Given the description of an element on the screen output the (x, y) to click on. 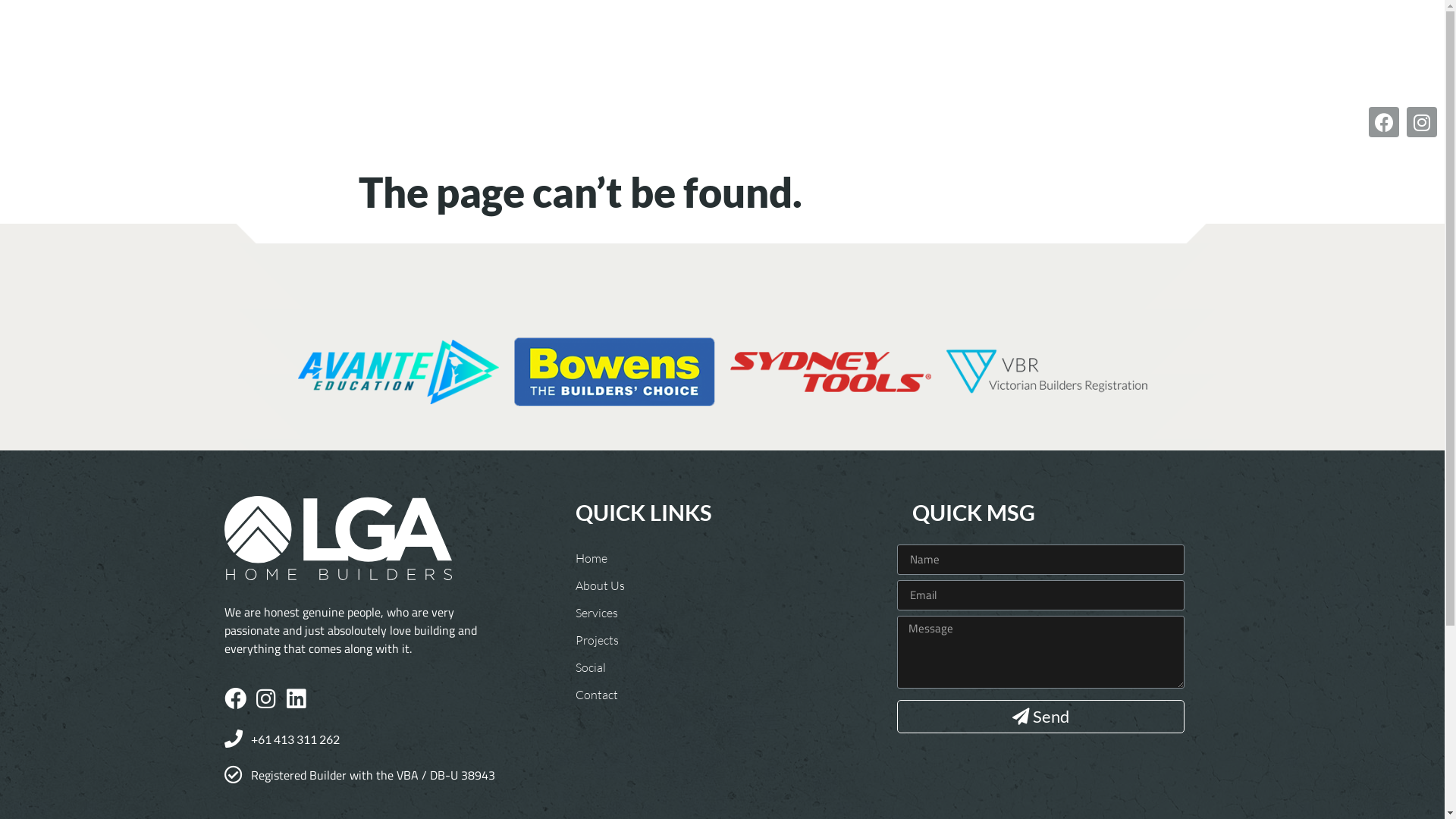
Home Element type: text (600, 557)
ABOUT US Element type: text (536, 51)
SOCIAL Element type: text (759, 51)
Social Element type: text (600, 666)
CONTACT Element type: text (828, 51)
Services Element type: text (600, 612)
Projects Element type: text (600, 639)
+61 413 311 262 Element type: text (366, 739)
Send Element type: text (1040, 716)
About Us Element type: text (600, 585)
SERVICES Element type: text (612, 51)
PROJECTS Element type: text (688, 51)
Contact Element type: text (600, 694)
Registered Builder with the VBA / DB-U 38943 Element type: text (366, 775)
Get a Quote Element type: text (1143, 50)
HOME Element type: text (468, 51)
